Given the description of an element on the screen output the (x, y) to click on. 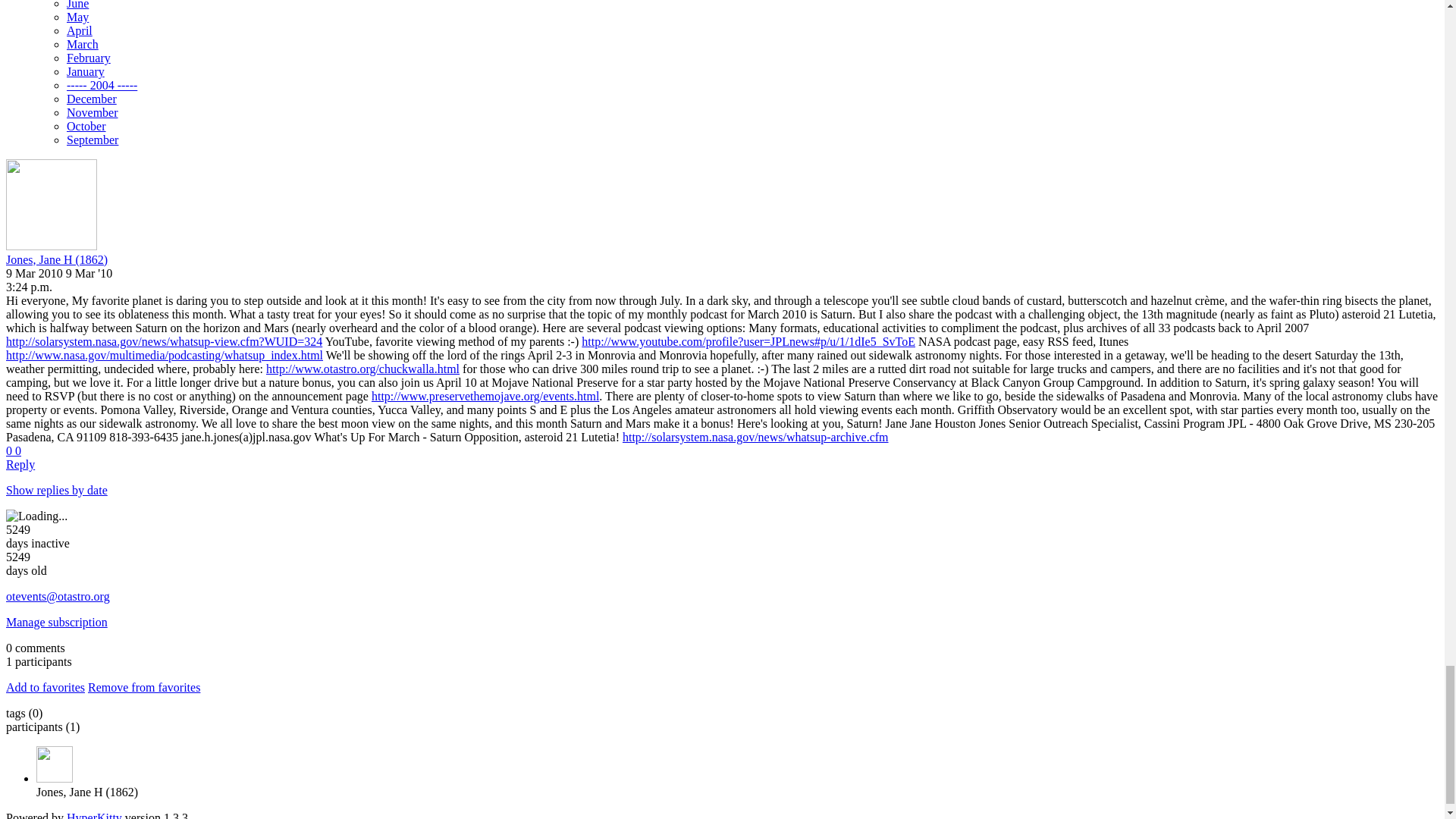
Sender's time: March 9, 2010, 3:24 p.m. (28, 286)
You must be logged-in to have favorites. (44, 686)
Sign in to reply online (19, 463)
